Given the description of an element on the screen output the (x, y) to click on. 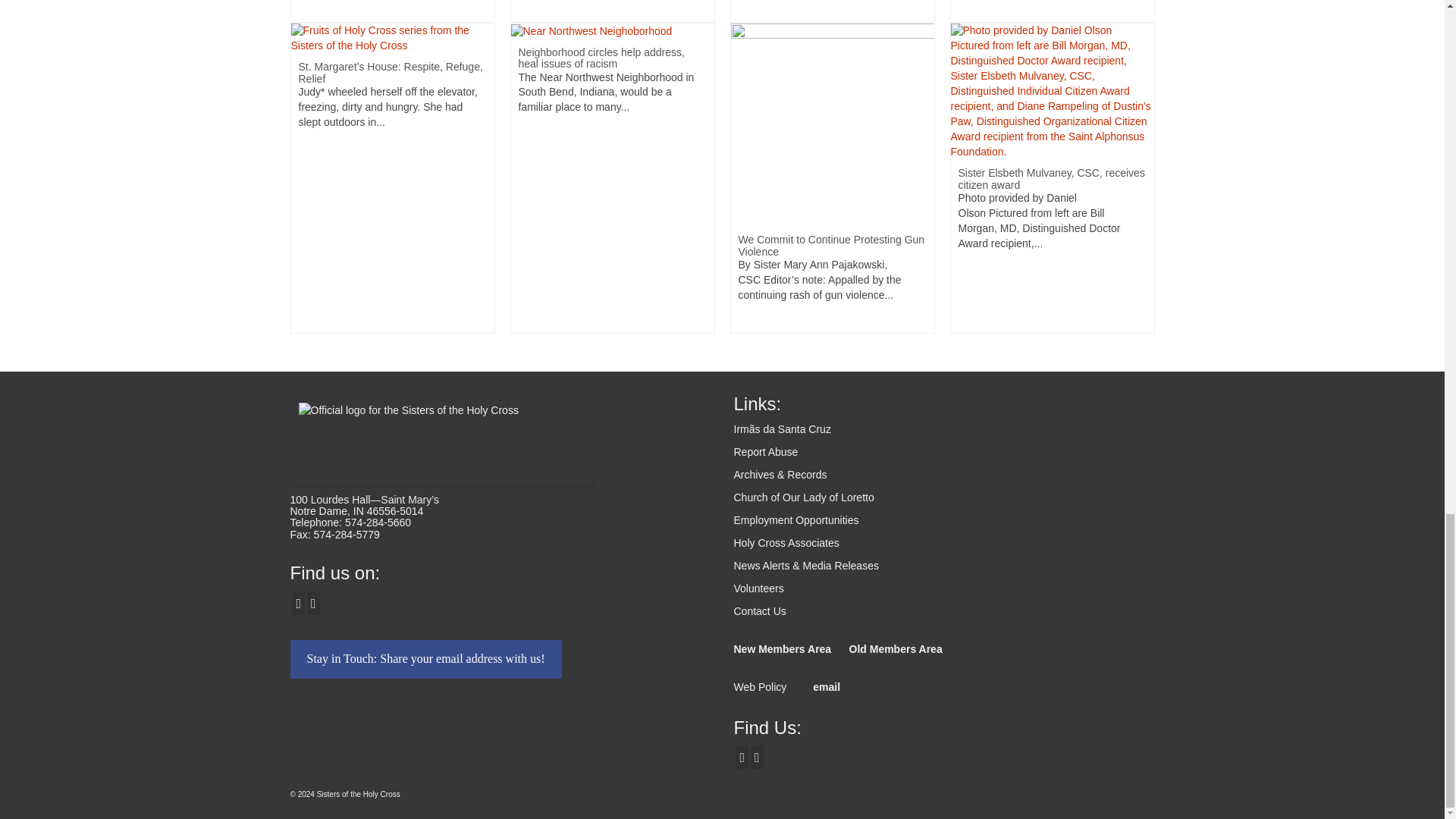
Neighborhood circles help address, heal issues of racism (591, 30)
We Commit to Continue Protesting Gun Violence (832, 123)
Sister Elsbeth Mulvaney, CSC, receives citizen award (1052, 91)
